Given the description of an element on the screen output the (x, y) to click on. 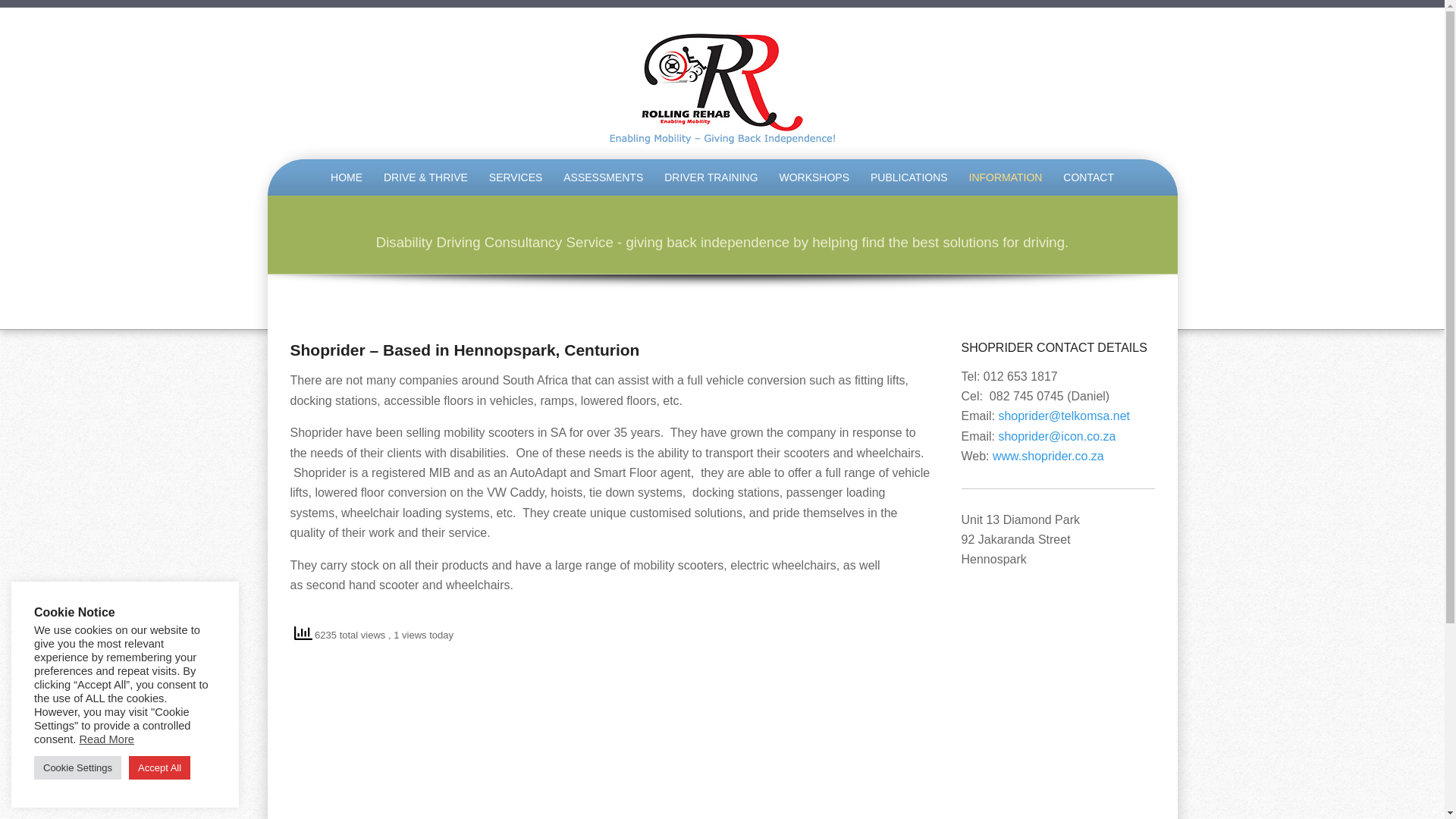
INFORMATION (1005, 176)
CONTACT (1088, 176)
ASSESSMENTS (603, 176)
SERVICES (515, 176)
SKIP TO CONTENT (293, 162)
Rolling Rehab (721, 87)
WORKSHOPS (814, 176)
DRIVER TRAINING (711, 176)
PUBLICATIONS (908, 176)
www.shoprider.co.za (1047, 455)
HOME (346, 176)
